Given the description of an element on the screen output the (x, y) to click on. 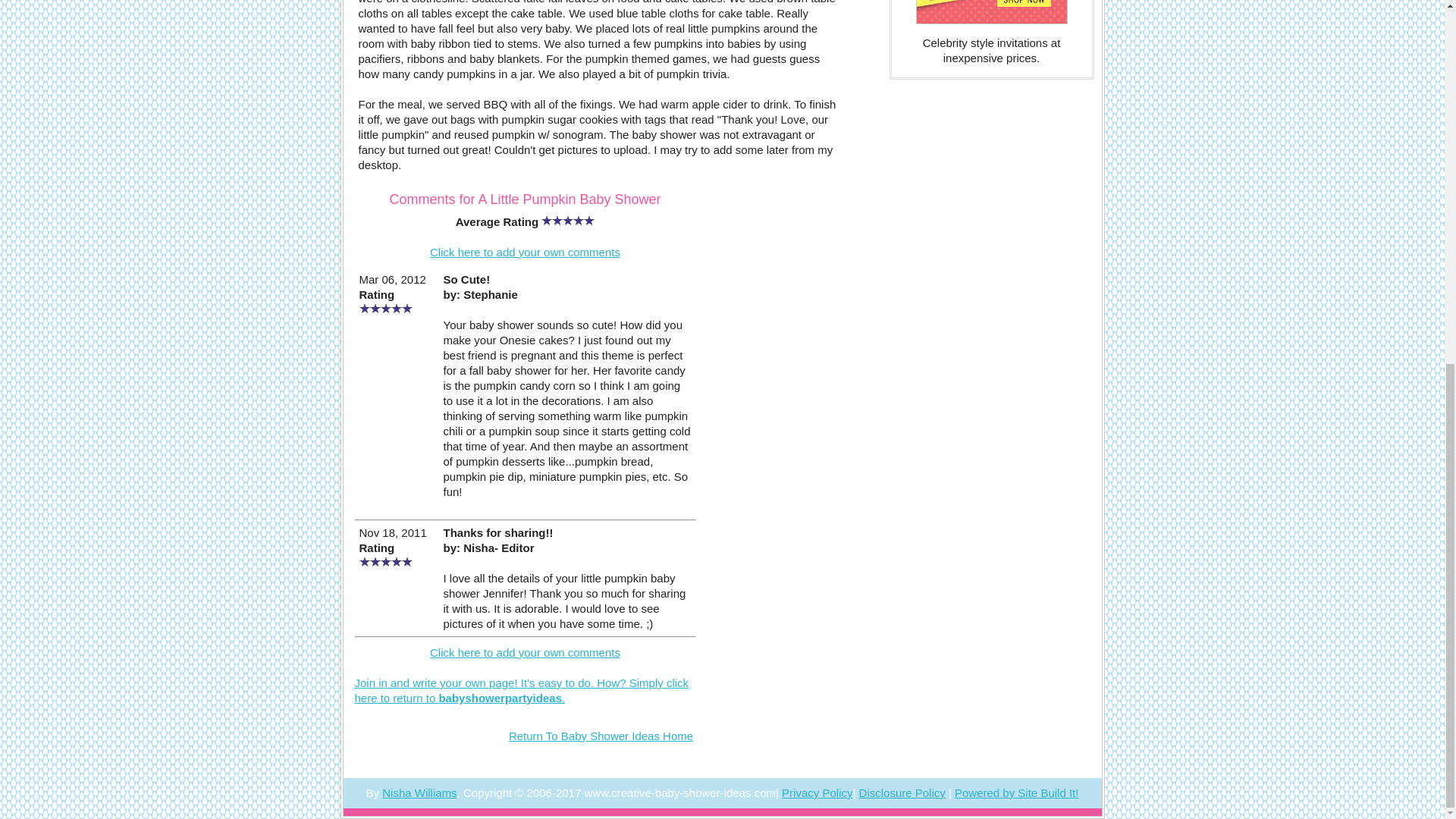
Click here to add your own comments (524, 652)
Click here to add your own comments (524, 251)
